Given the description of an element on the screen output the (x, y) to click on. 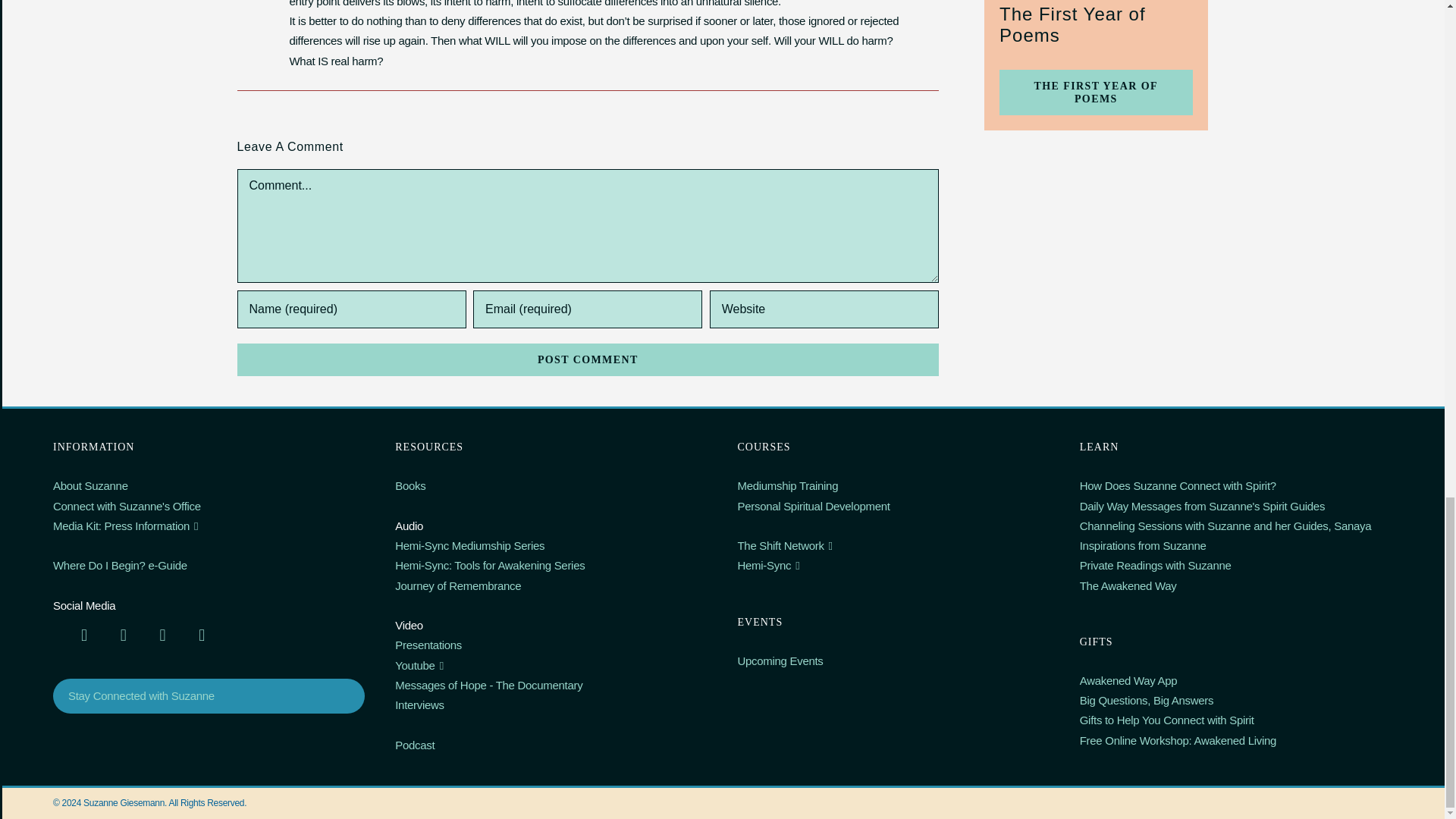
Post Comment (587, 359)
